Given the description of an element on the screen output the (x, y) to click on. 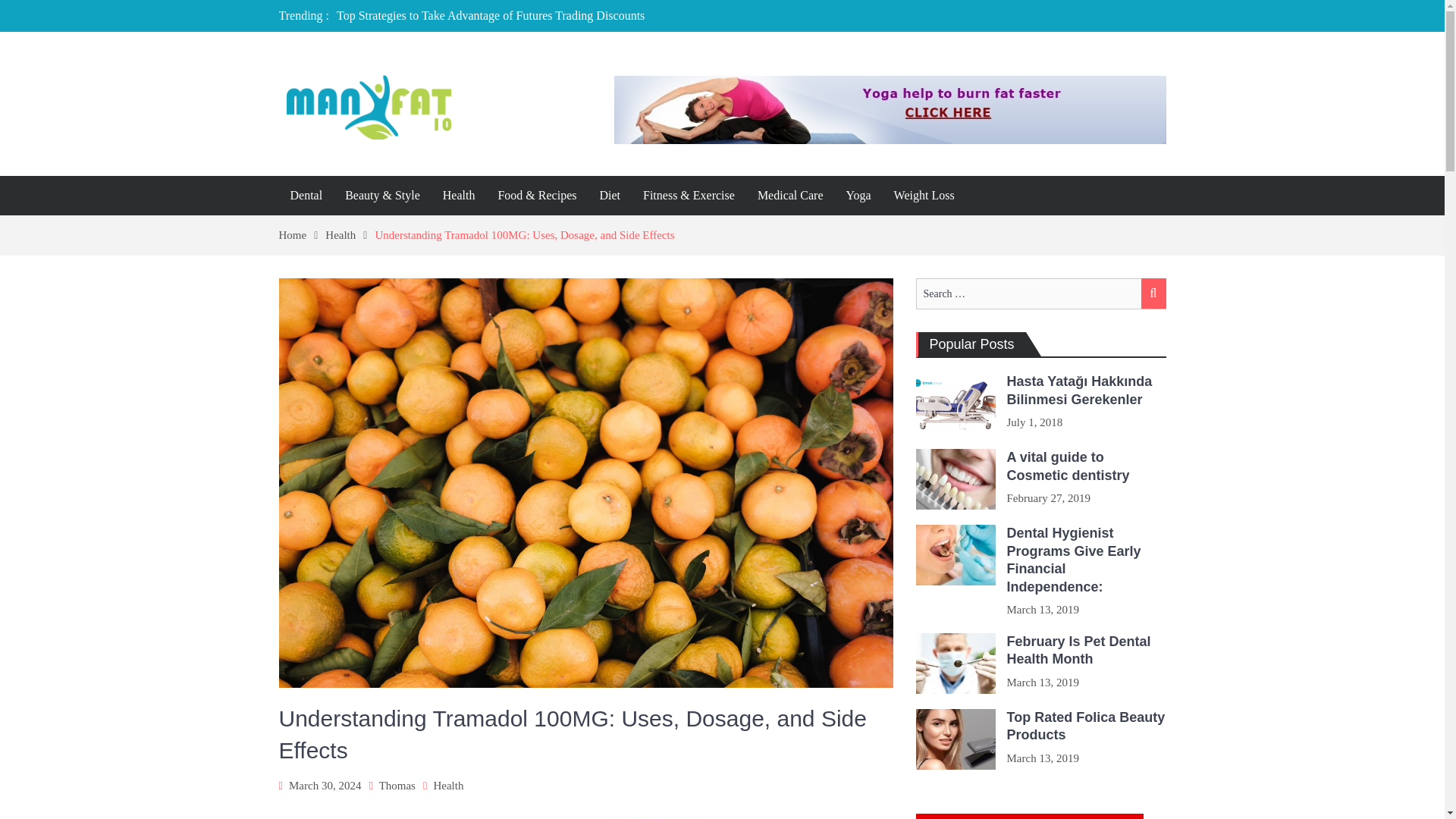
Home (302, 234)
Health (447, 785)
Weight Loss (924, 195)
Health (458, 195)
Medical Care (789, 195)
Thomas (396, 785)
March 30, 2024 (324, 785)
Dental (306, 195)
Diet (609, 195)
